Given the description of an element on the screen output the (x, y) to click on. 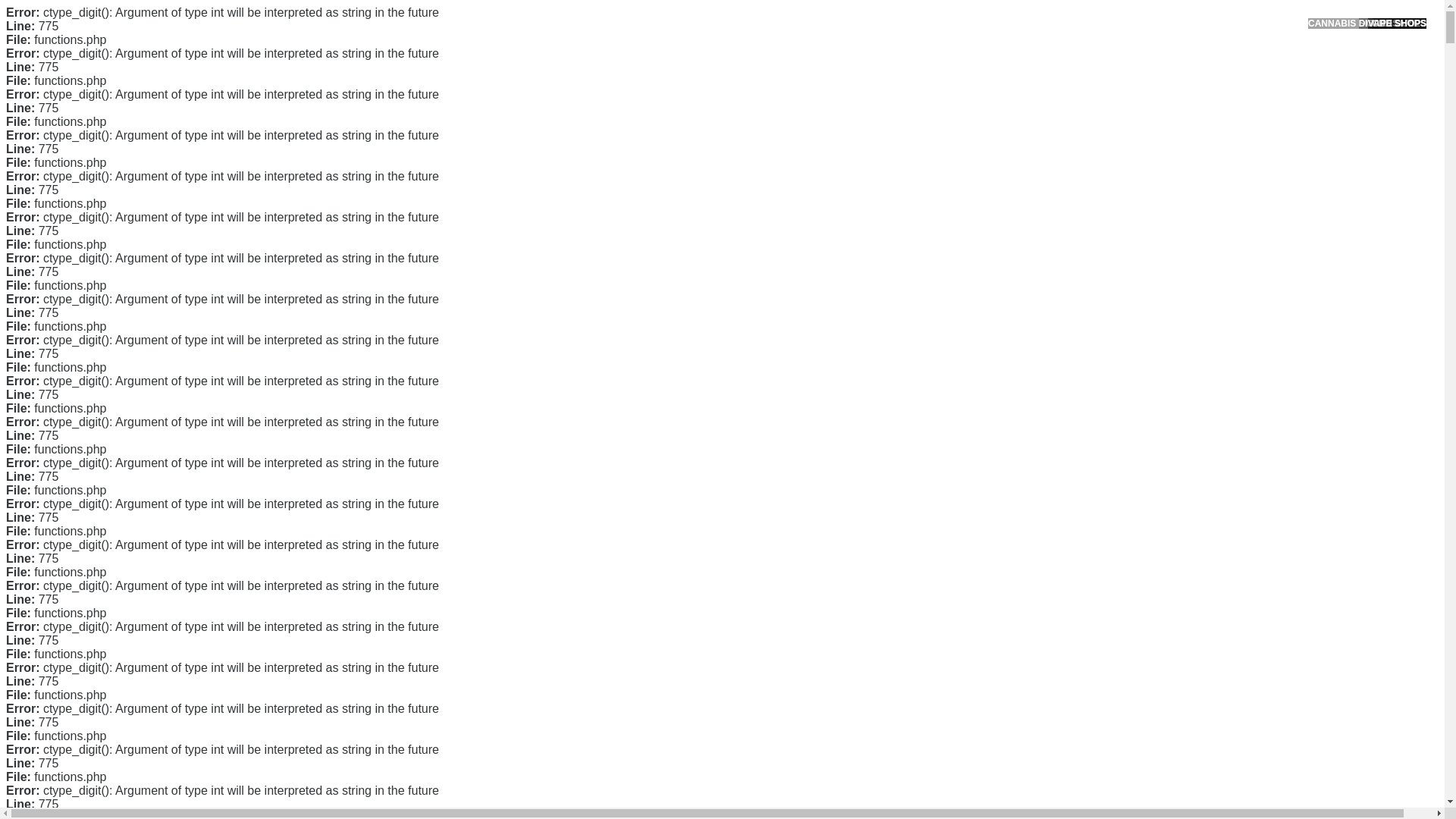
Disclaimer (990, 354)
Skip to content (34, 9)
ADMINISTRATOR (417, 81)
Privacy Policy (999, 306)
Contact Us (991, 258)
Terms of Use (996, 330)
Latest Article (996, 172)
Search (1050, 85)
i was reading this (700, 262)
Search (1050, 85)
Search (1050, 85)
advice (683, 488)
Log in (980, 588)
DMCA Policy (996, 282)
August 2020 (996, 432)
